Given the description of an element on the screen output the (x, y) to click on. 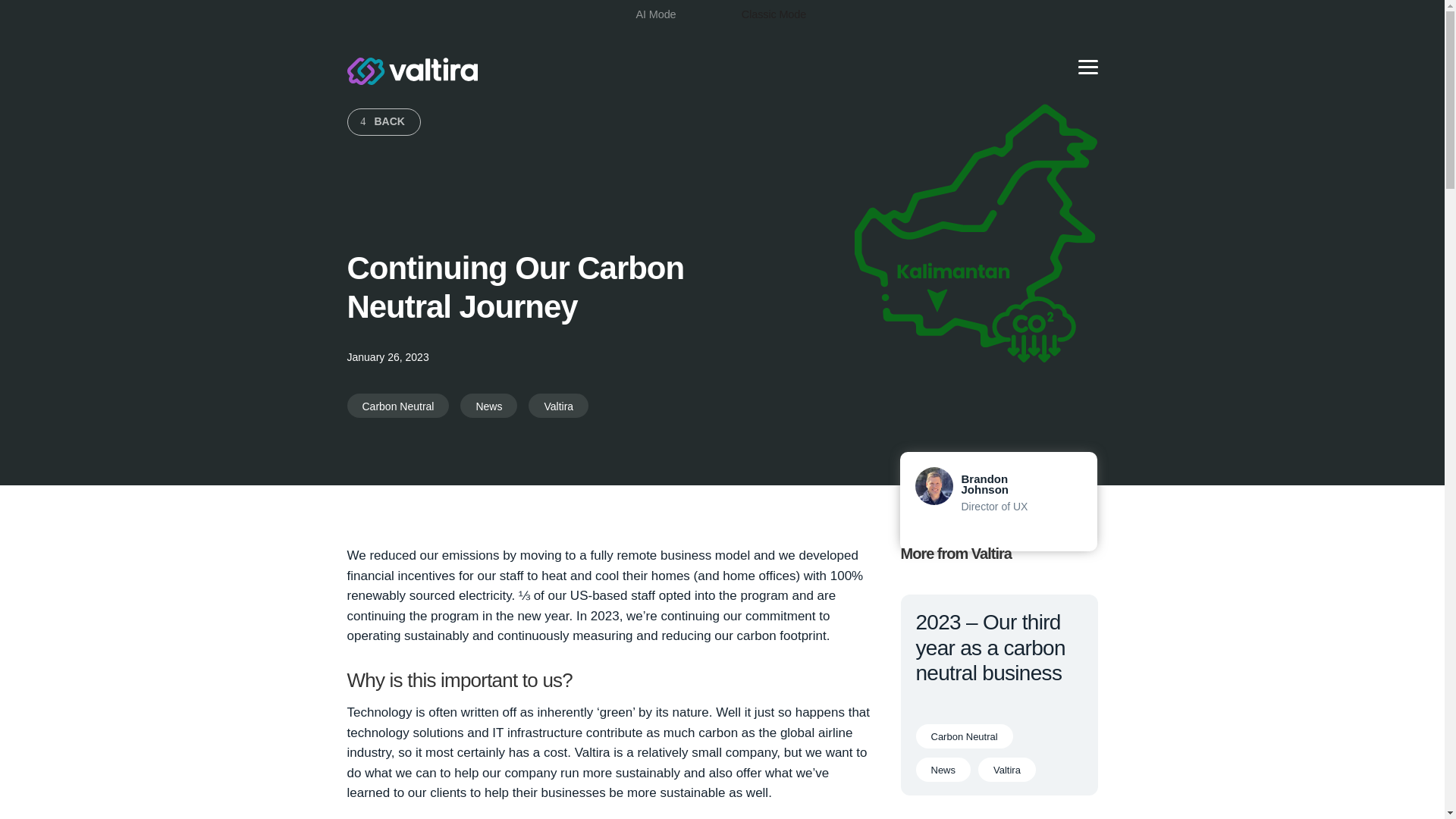
BACK (383, 121)
Classic Mode (773, 15)
Carbon Neutral (964, 735)
Brandon Johnson (984, 484)
Valtira (413, 70)
AI Mode (655, 15)
News (488, 405)
News (943, 769)
Brandon Johnson (984, 484)
Valtira (558, 405)
Carbon Neutral (398, 405)
Valtira (1006, 769)
